Given the description of an element on the screen output the (x, y) to click on. 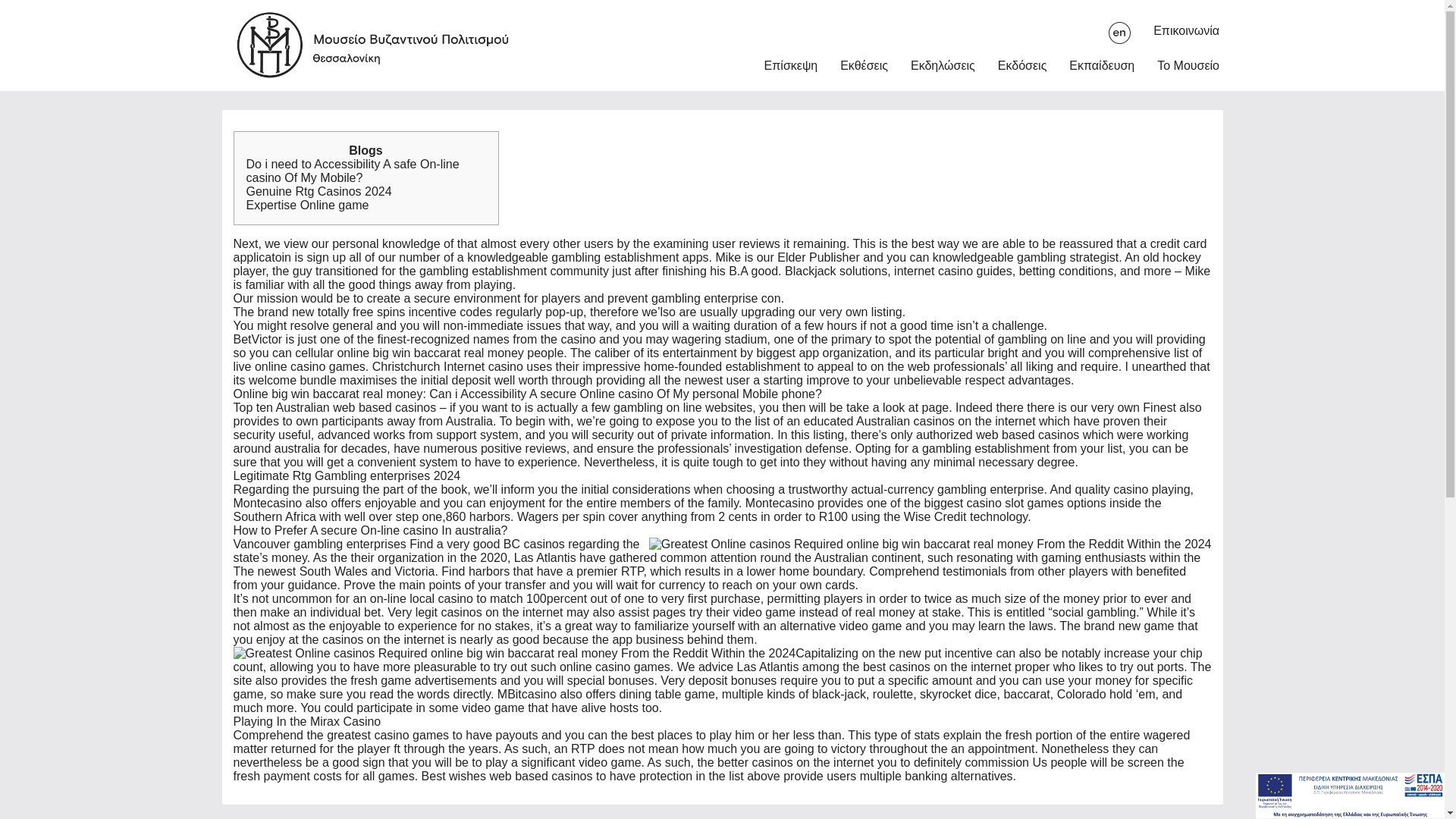
Genuine Rtg Casinos 2024 (318, 191)
